Given the description of an element on the screen output the (x, y) to click on. 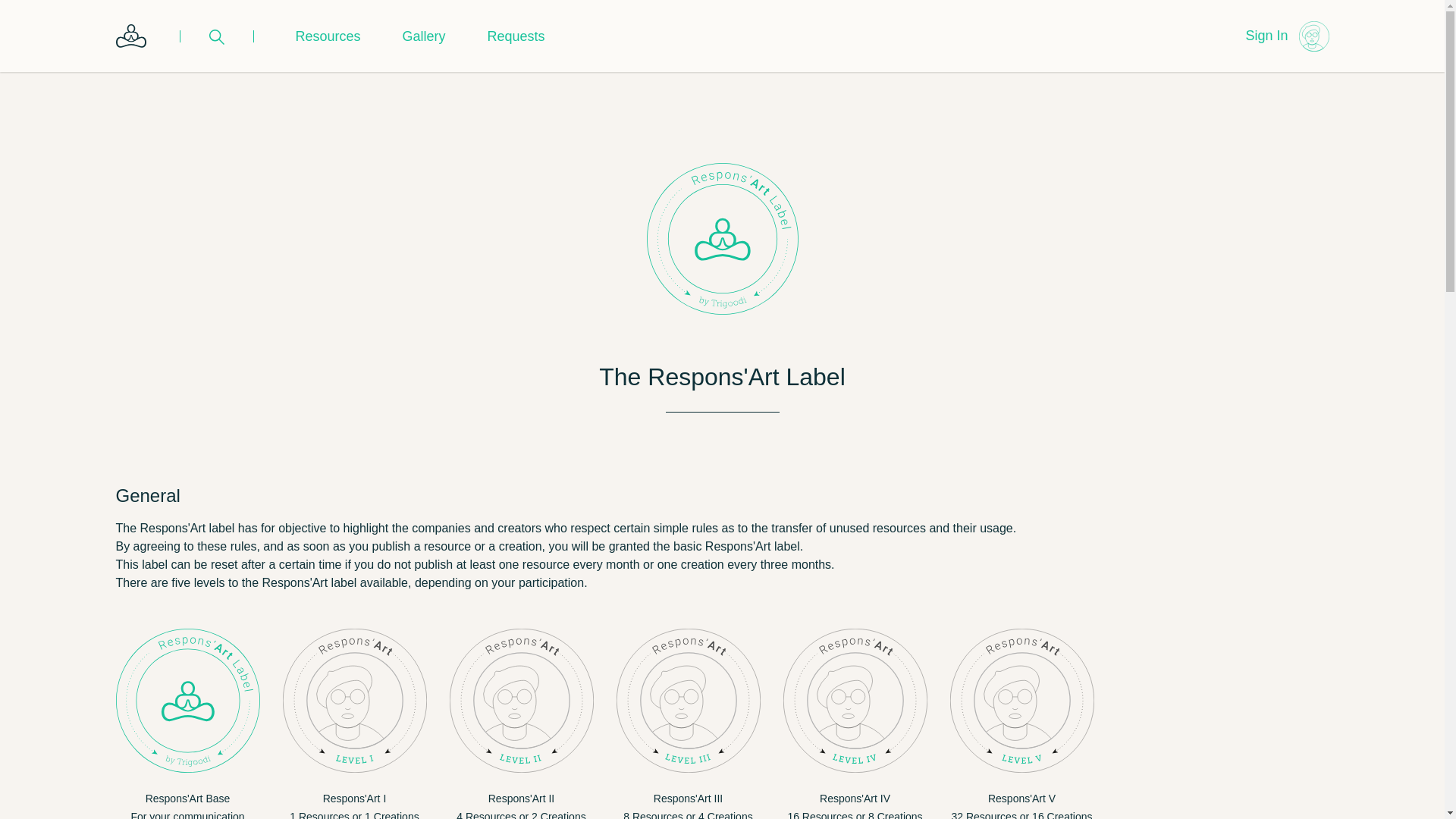
Gallery (424, 36)
Trigoodi (130, 35)
Sign In (1265, 35)
Requests (515, 36)
Resources (328, 36)
Login (1312, 36)
